Given the description of an element on the screen output the (x, y) to click on. 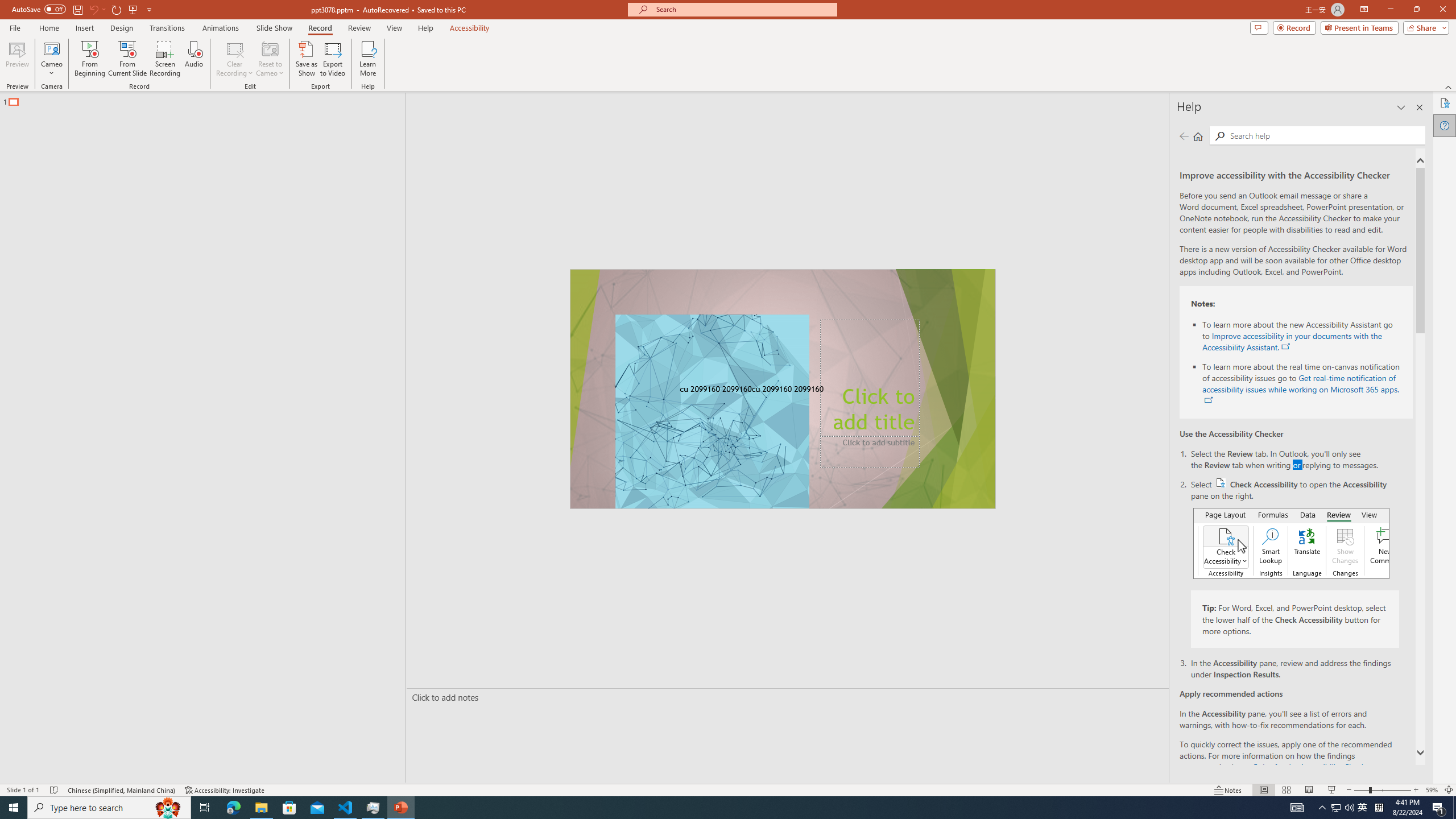
openinnewwindow (1208, 400)
An abstract genetic concept (782, 388)
Outline (207, 99)
Learn More (368, 58)
Zoom 59% (1431, 790)
